Given the description of an element on the screen output the (x, y) to click on. 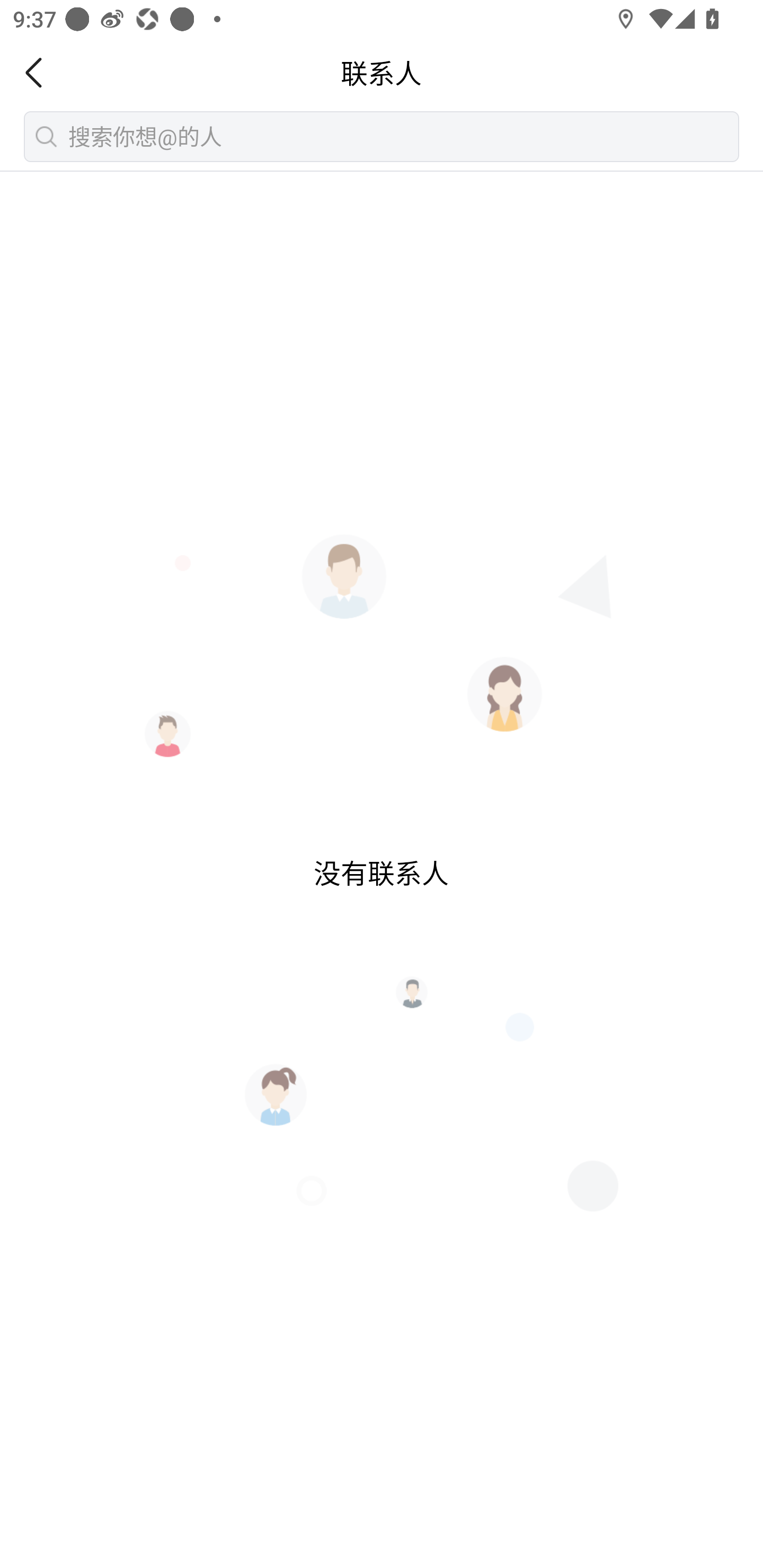
返回 (39, 72)
搜索你想@的人 (381, 136)
